Given the description of an element on the screen output the (x, y) to click on. 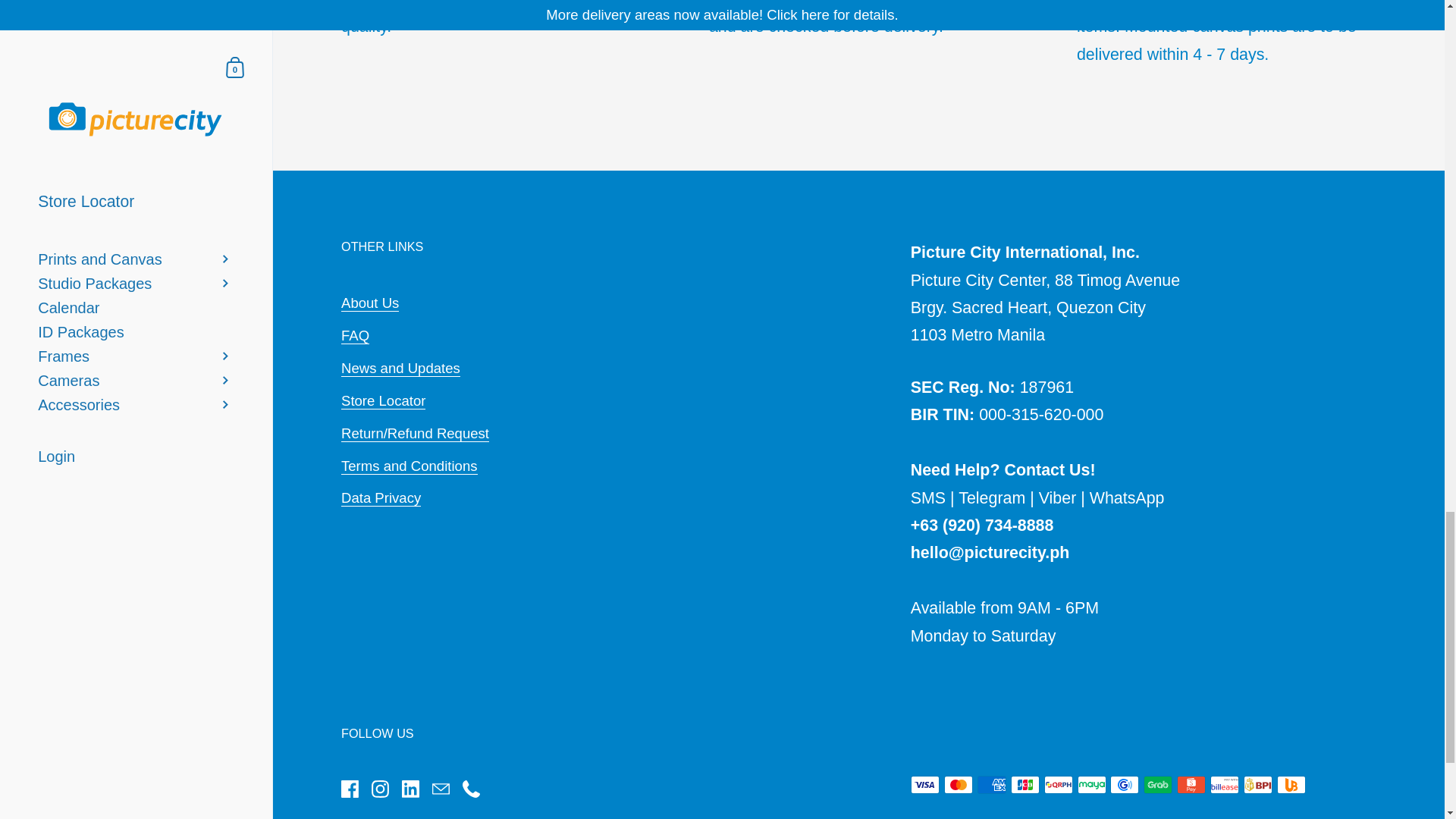
Mastercard (957, 784)
QR Ph (1058, 784)
Visa (925, 784)
American Express (991, 784)
JCB (1024, 784)
